Given the description of an element on the screen output the (x, y) to click on. 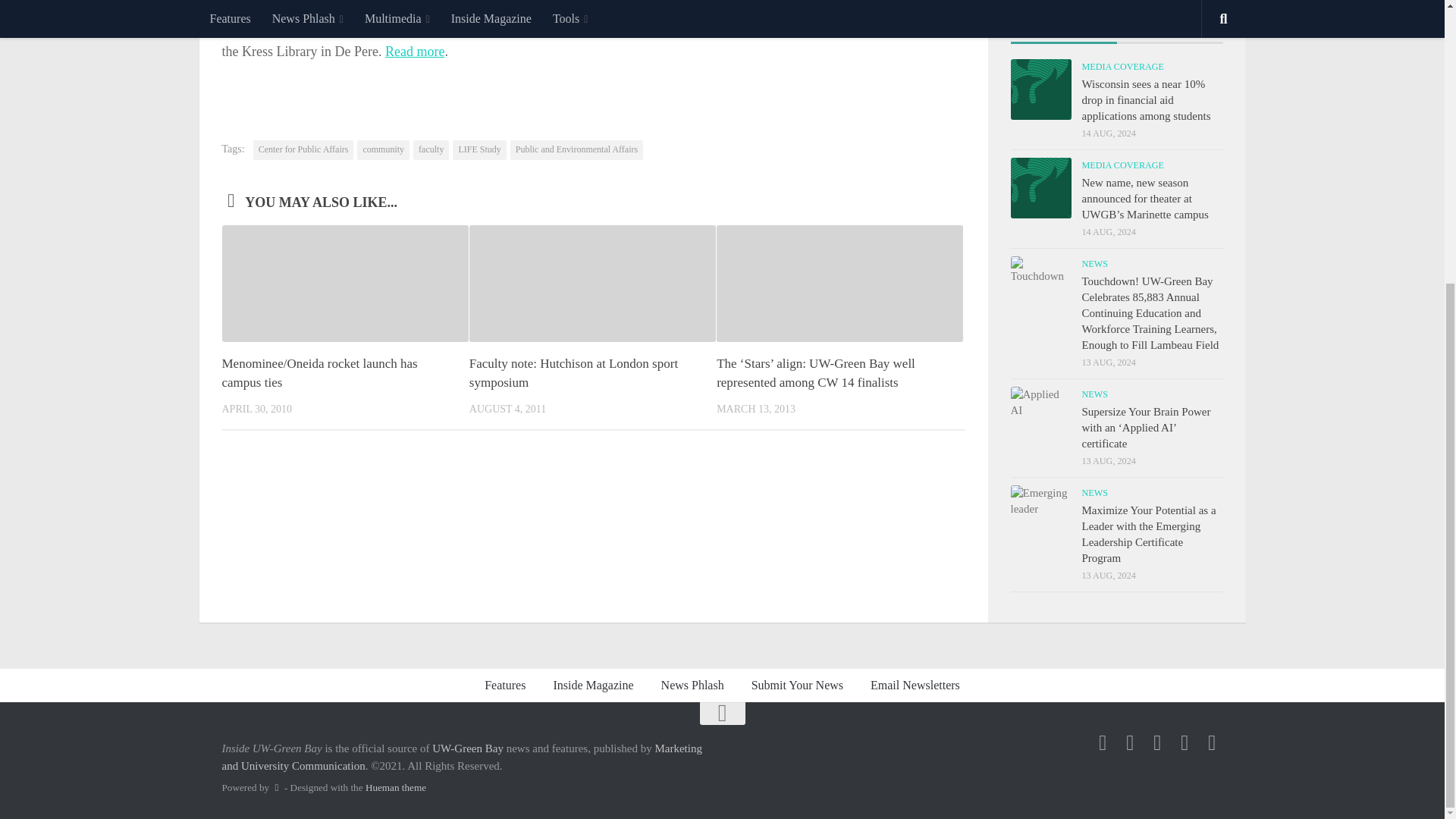
faculty (430, 149)
Read more (414, 51)
community (382, 149)
Public and Environmental Affairs (577, 149)
Tags (1169, 27)
LIFE Study (478, 149)
Center for Public Affairs (303, 149)
Recent Posts (1063, 27)
